Given the description of an element on the screen output the (x, y) to click on. 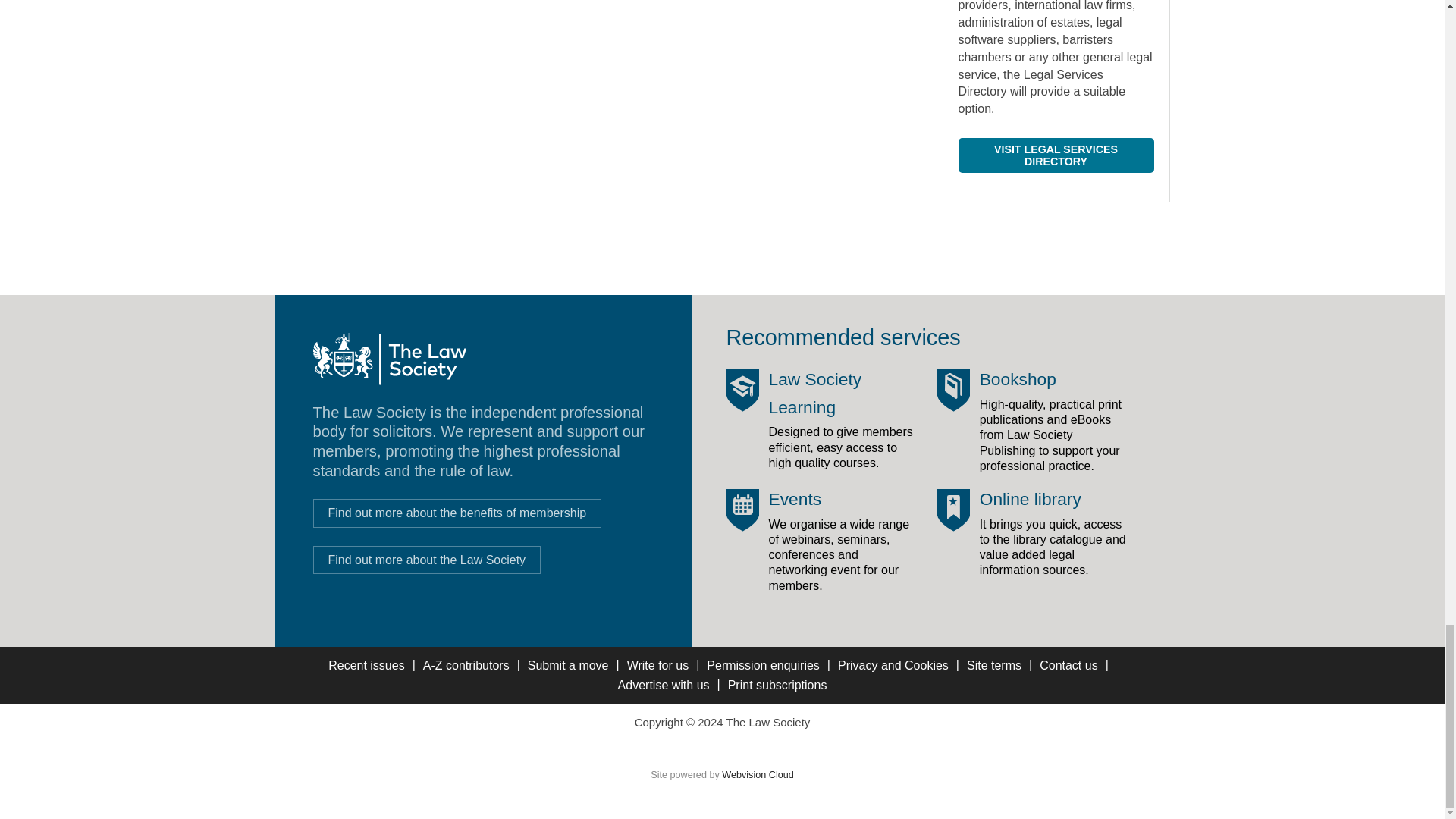
Learn more (457, 512)
Learn more (426, 560)
